Given the description of an element on the screen output the (x, y) to click on. 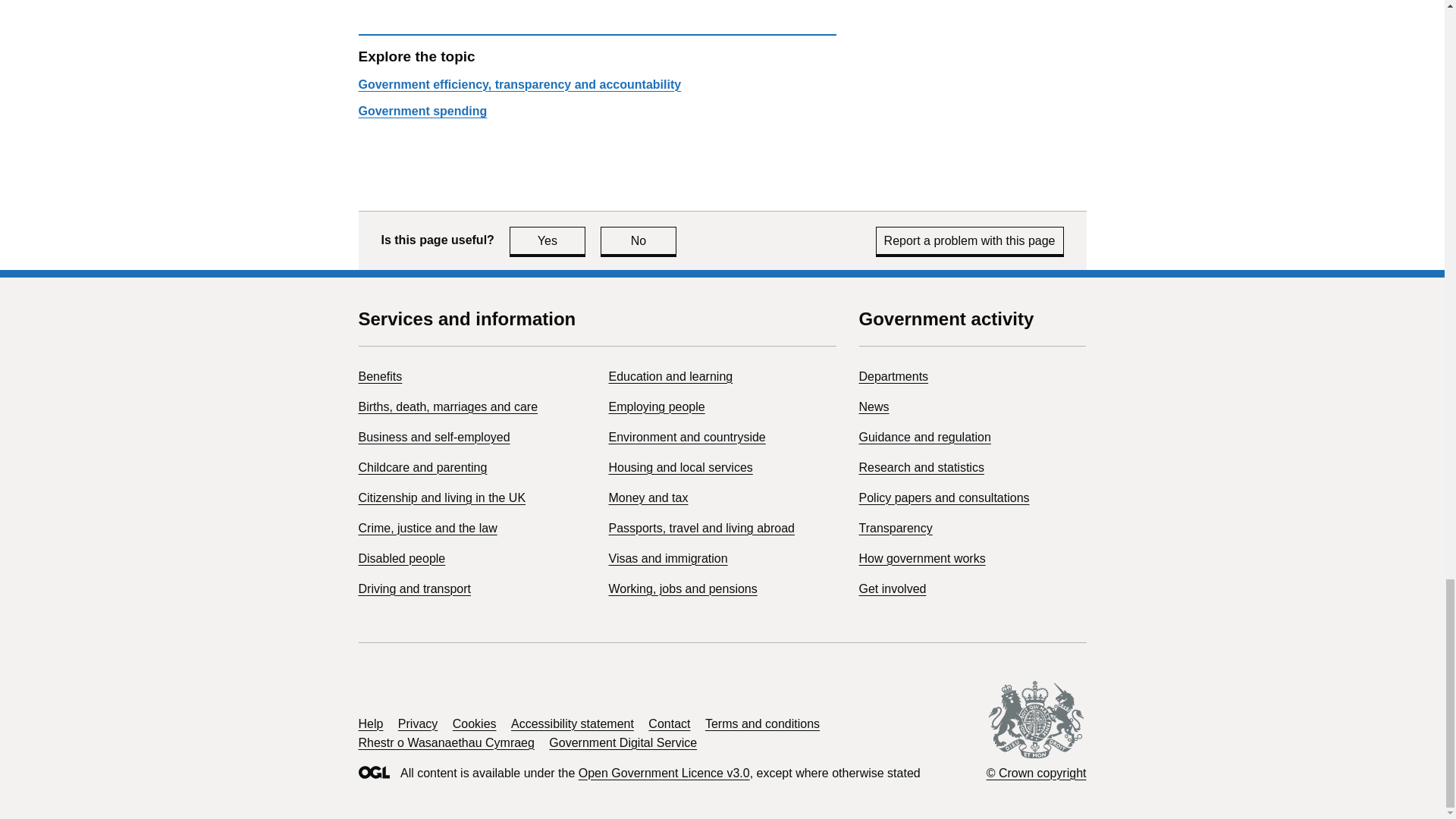
Crime, justice and the law (427, 527)
Business and self-employed (433, 436)
Citizenship and living in the UK (547, 240)
Government efficiency, transparency and accountability (441, 497)
Government spending (638, 240)
Benefits (519, 83)
Childcare and parenting (422, 110)
Births, death, marriages and care (379, 376)
